Given the description of an element on the screen output the (x, y) to click on. 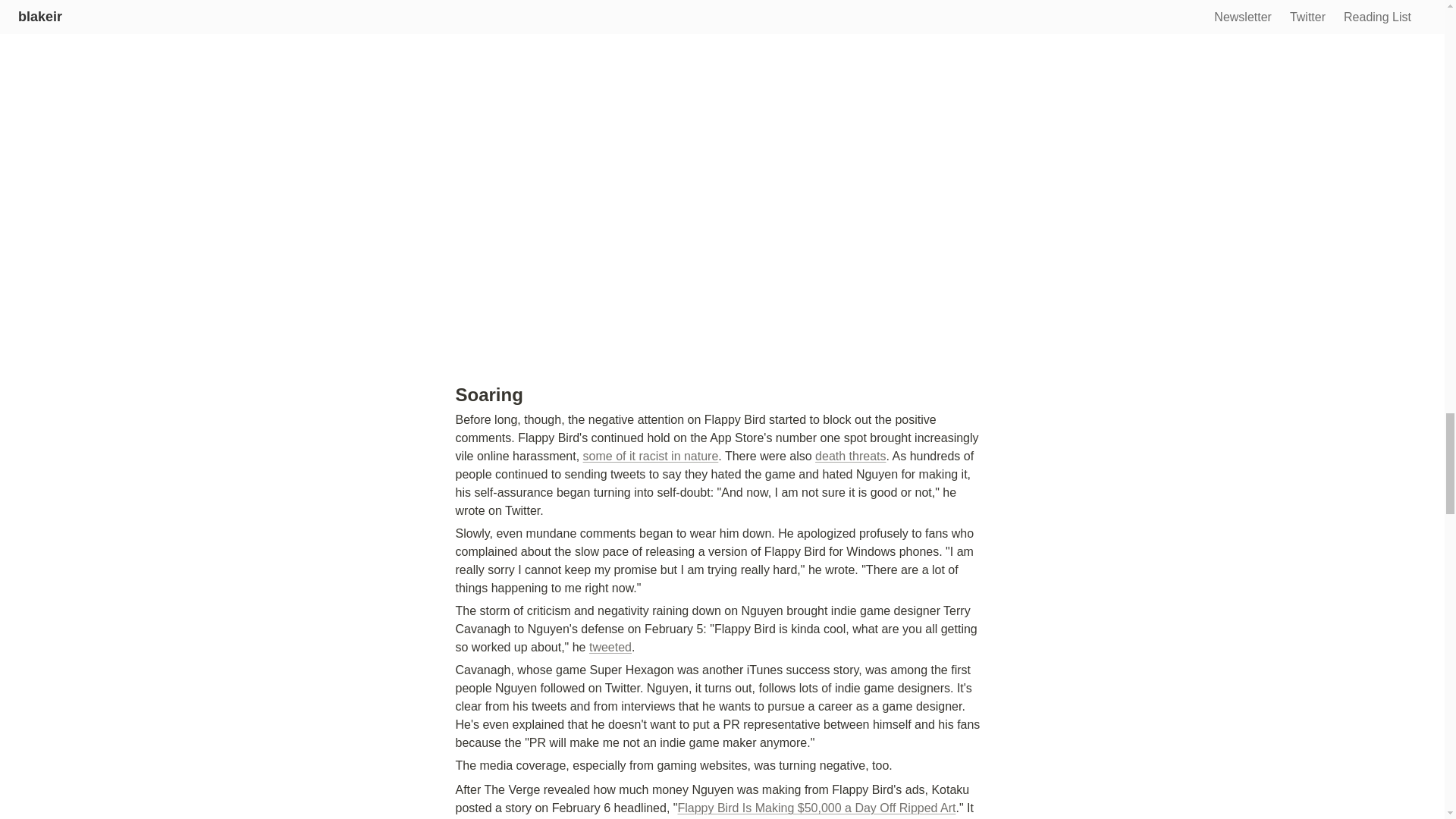
tweeted (610, 646)
some of it racist in nature (651, 455)
death threats (850, 455)
